Given the description of an element on the screen output the (x, y) to click on. 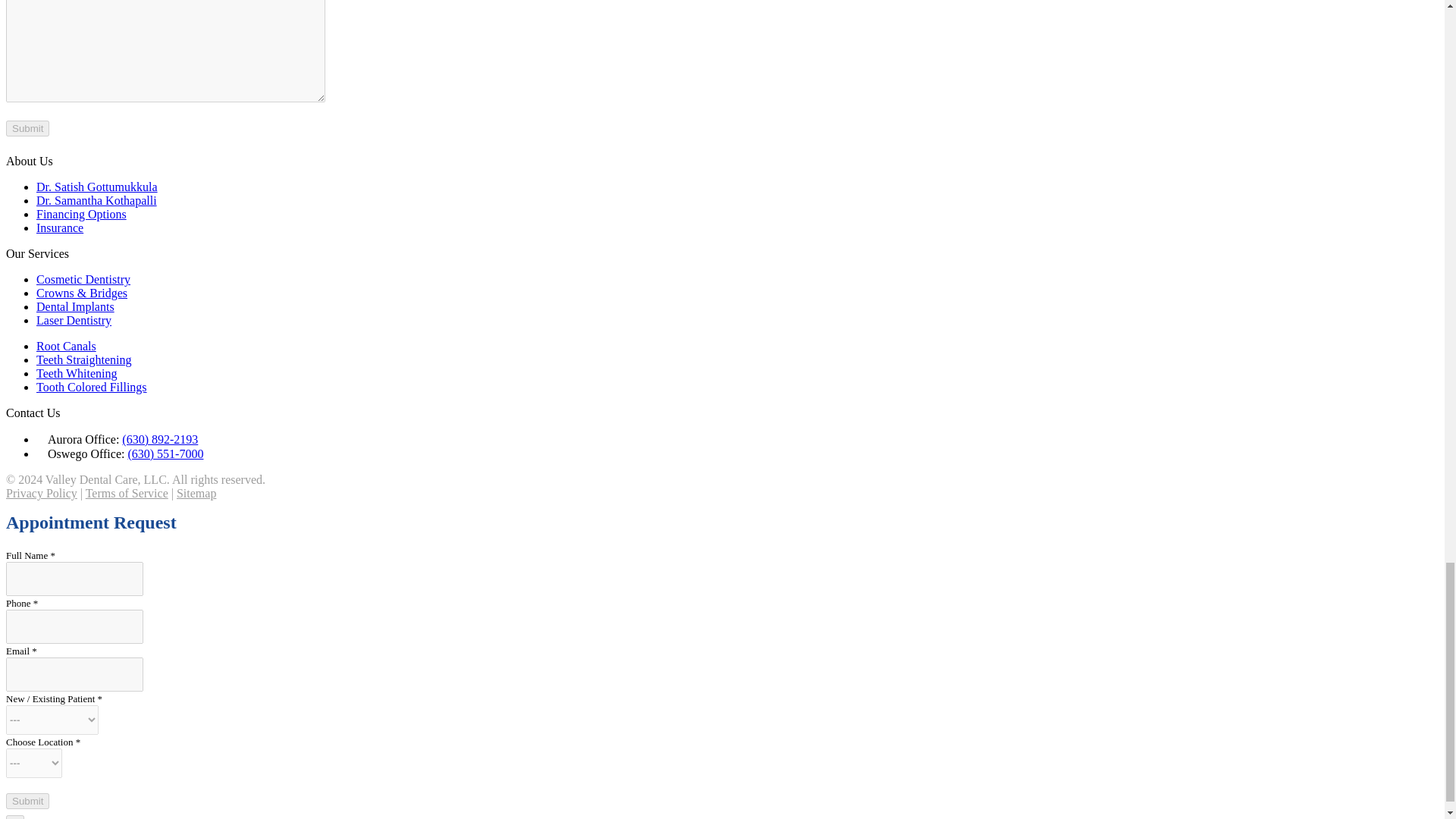
Submit (27, 128)
Dr. Satish Gottumukkula (96, 186)
Submit (27, 801)
Submit (27, 128)
